Given the description of an element on the screen output the (x, y) to click on. 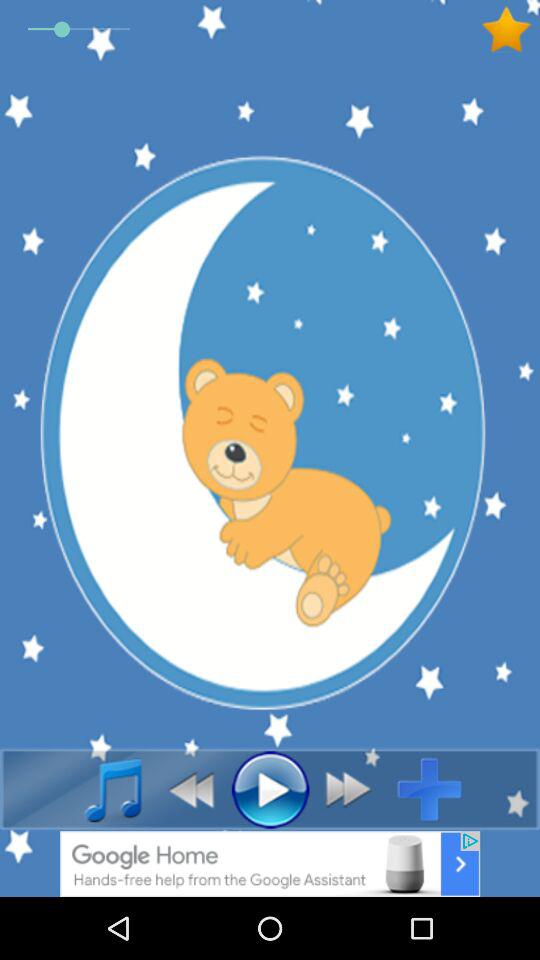
add to favourite (510, 29)
